Given the description of an element on the screen output the (x, y) to click on. 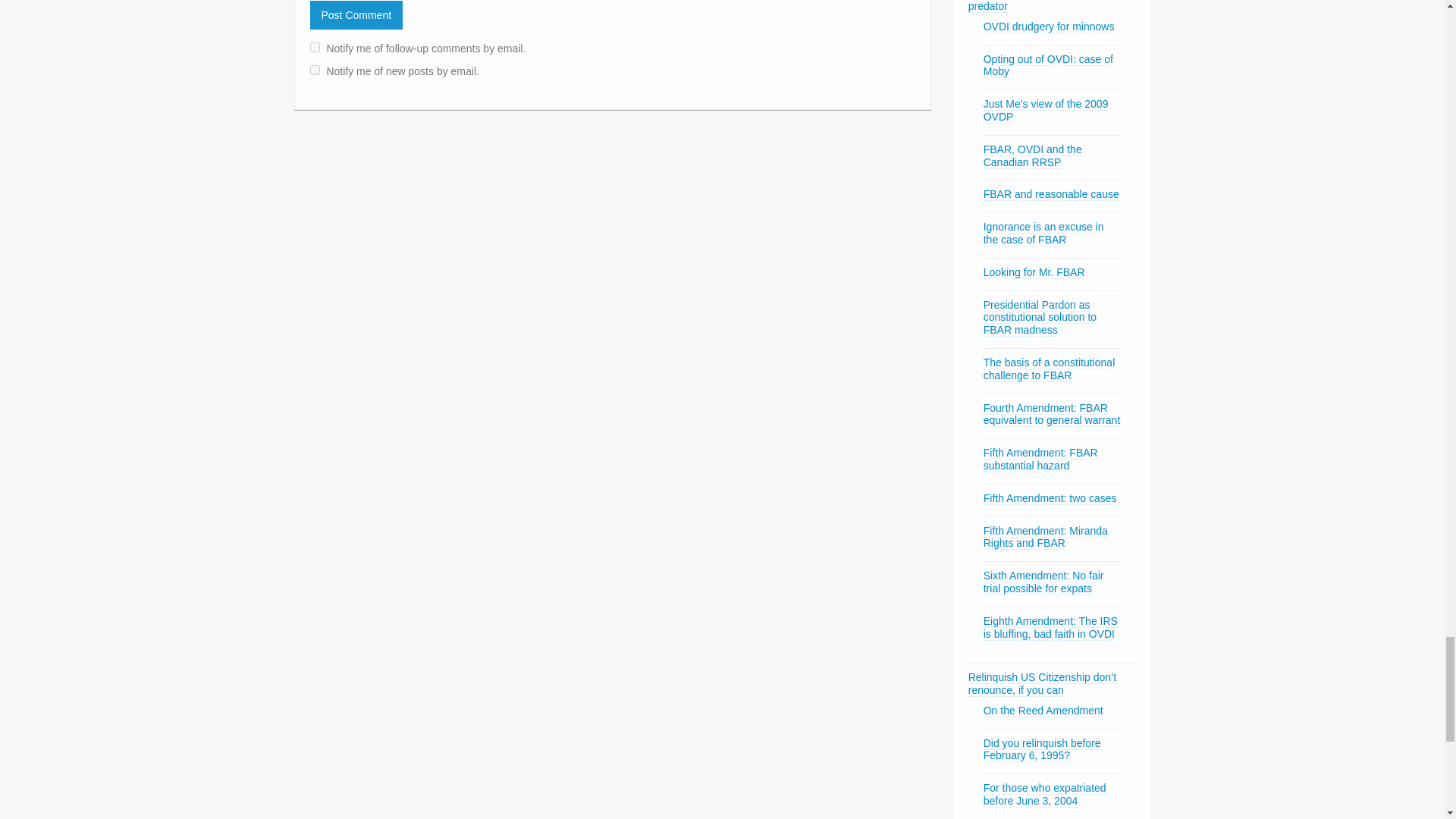
subscribe (313, 47)
subscribe (313, 70)
Post Comment (355, 14)
